Given the description of an element on the screen output the (x, y) to click on. 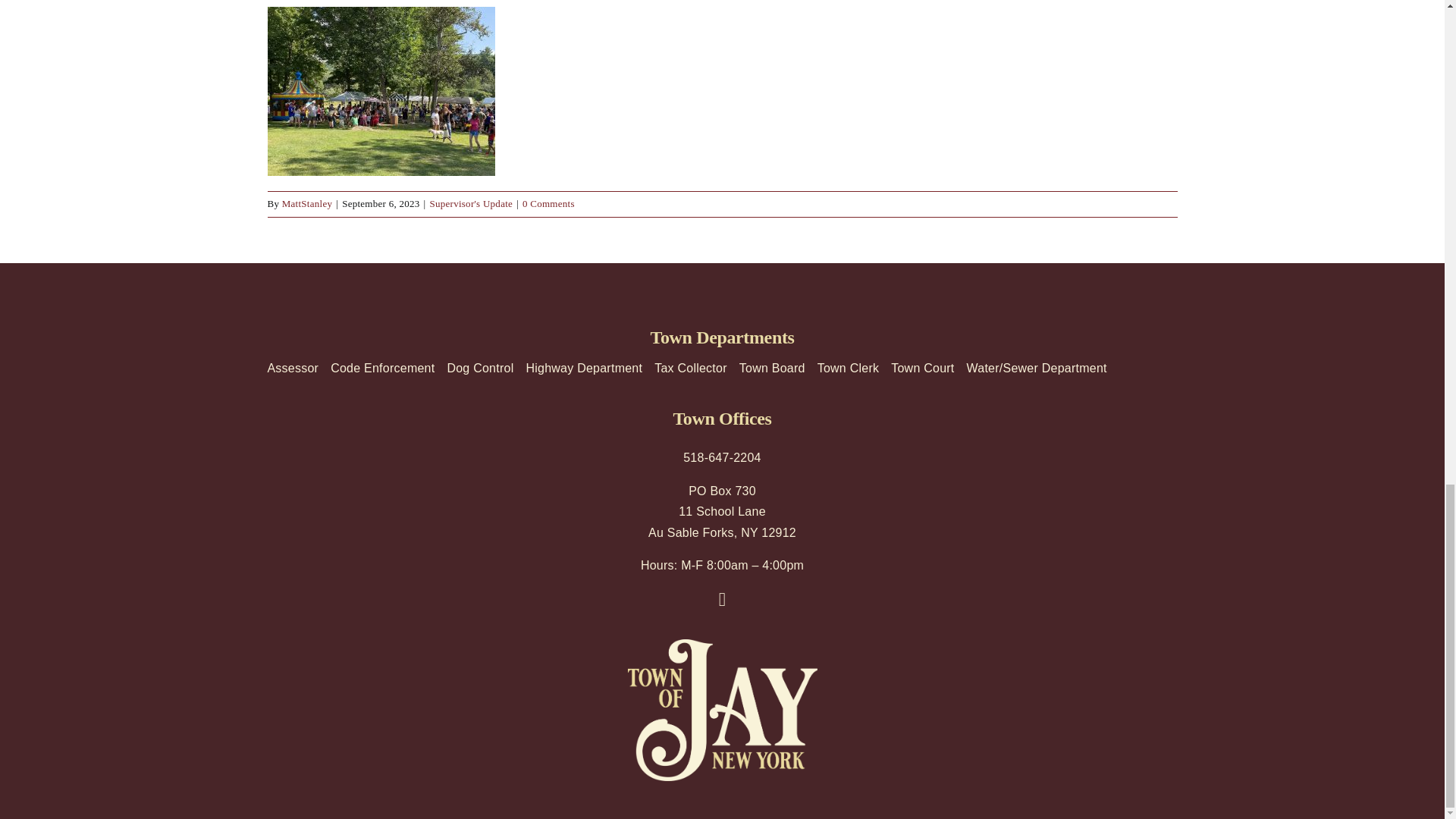
Posts by MattStanley (307, 203)
